Given the description of an element on the screen output the (x, y) to click on. 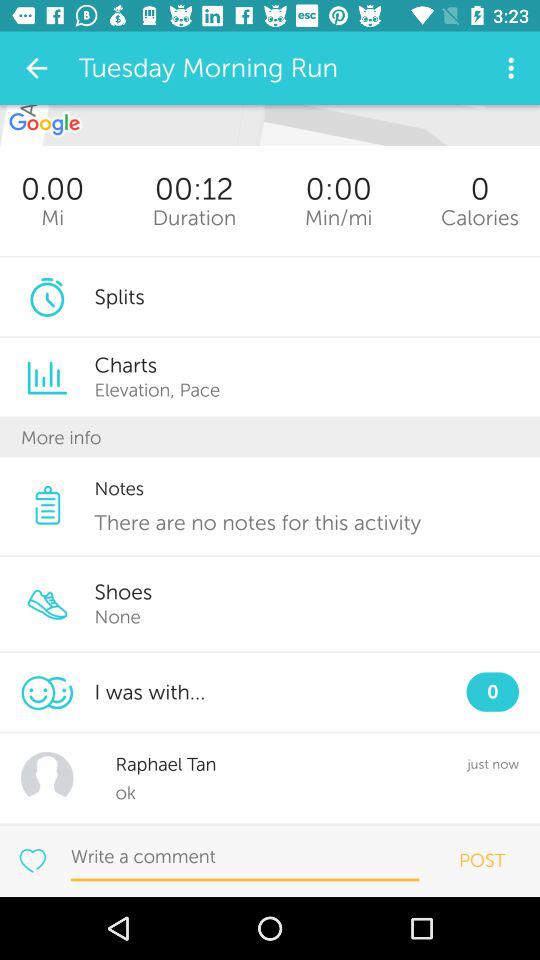
choose icon to the left of the tuesday morning run (36, 68)
